Given the description of an element on the screen output the (x, y) to click on. 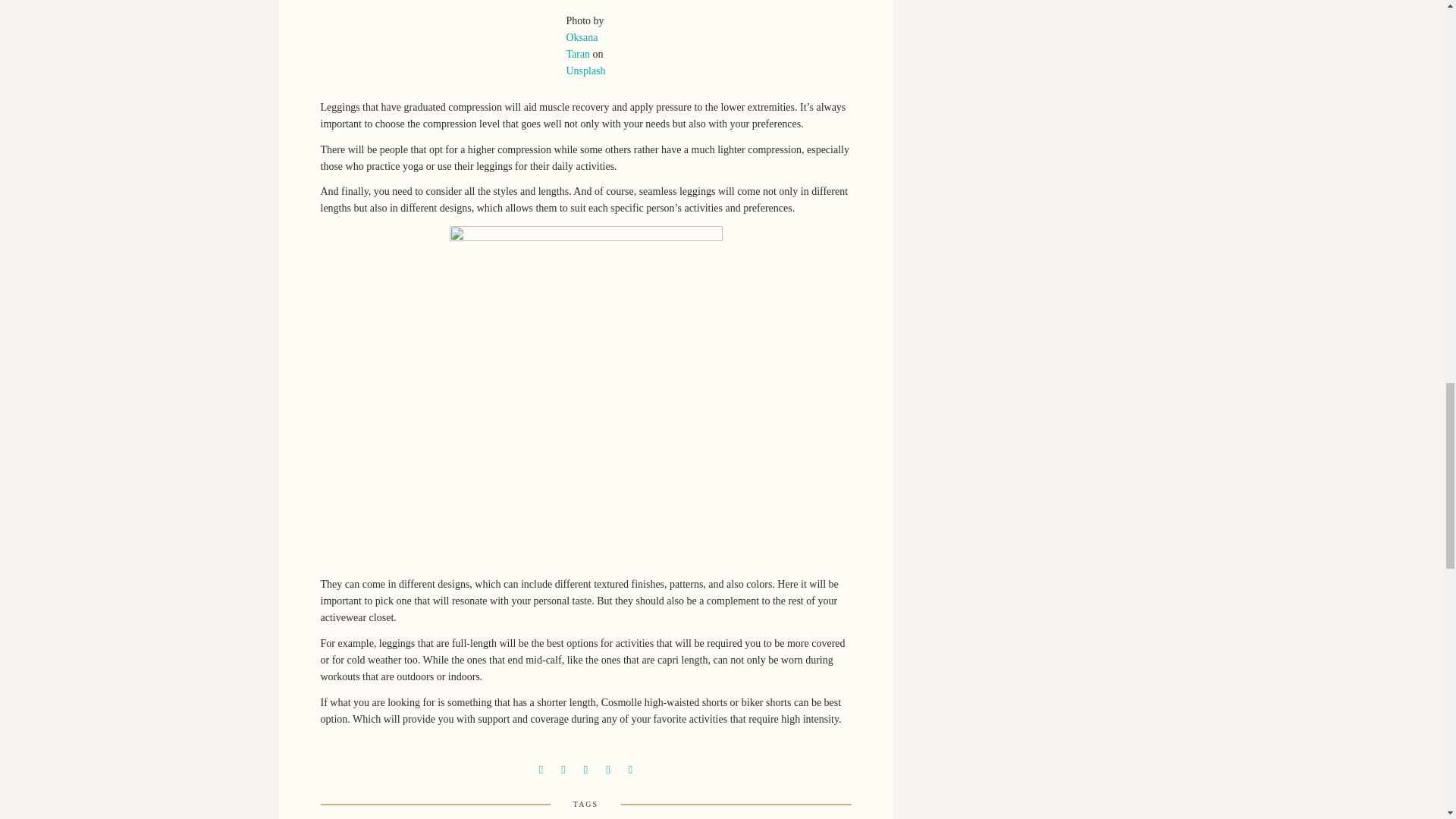
The Definitive Guide to Seamless Activewear (563, 767)
